Given the description of an element on the screen output the (x, y) to click on. 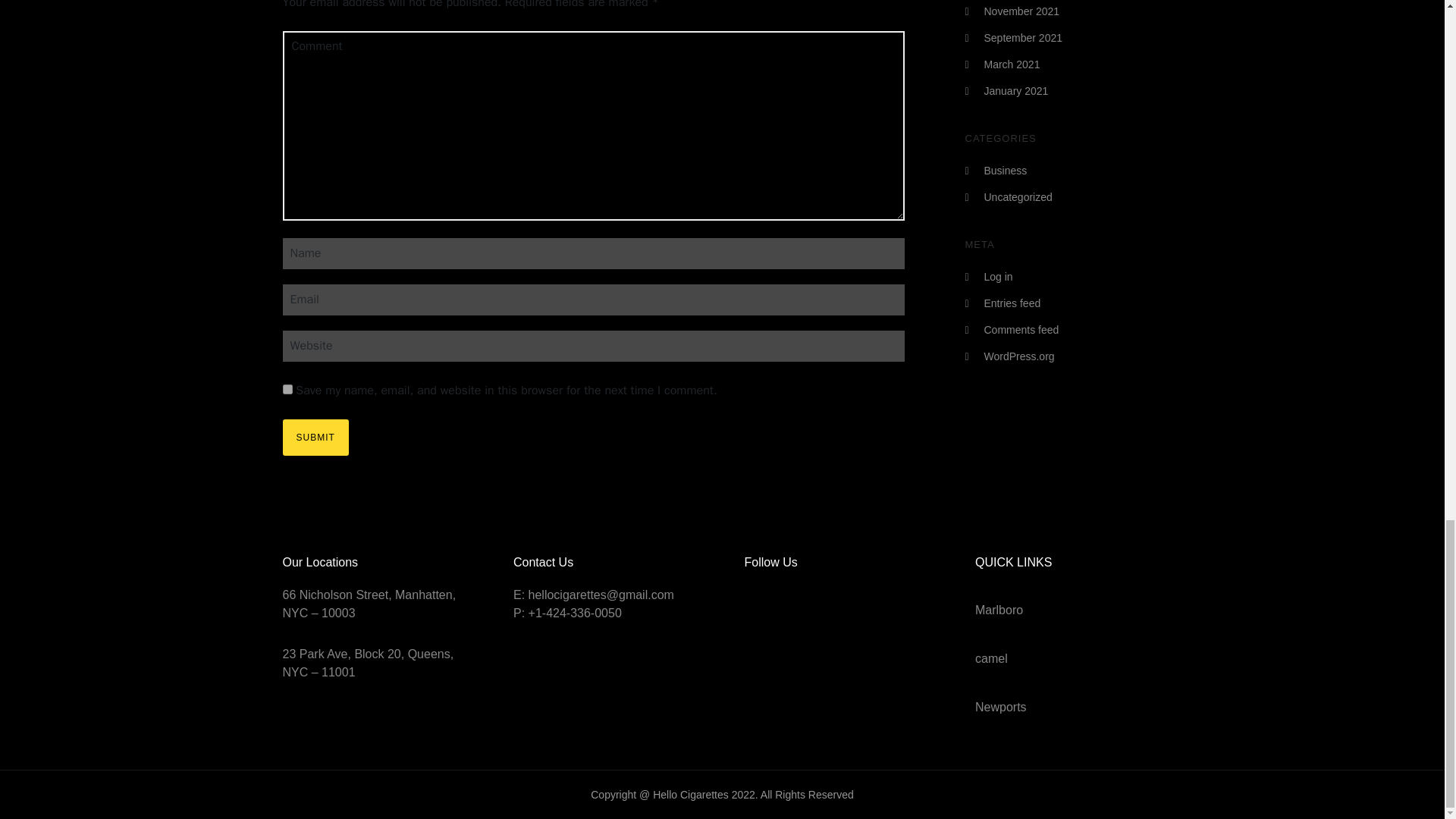
yes (287, 388)
Submit (314, 437)
Submit (314, 437)
